Given the description of an element on the screen output the (x, y) to click on. 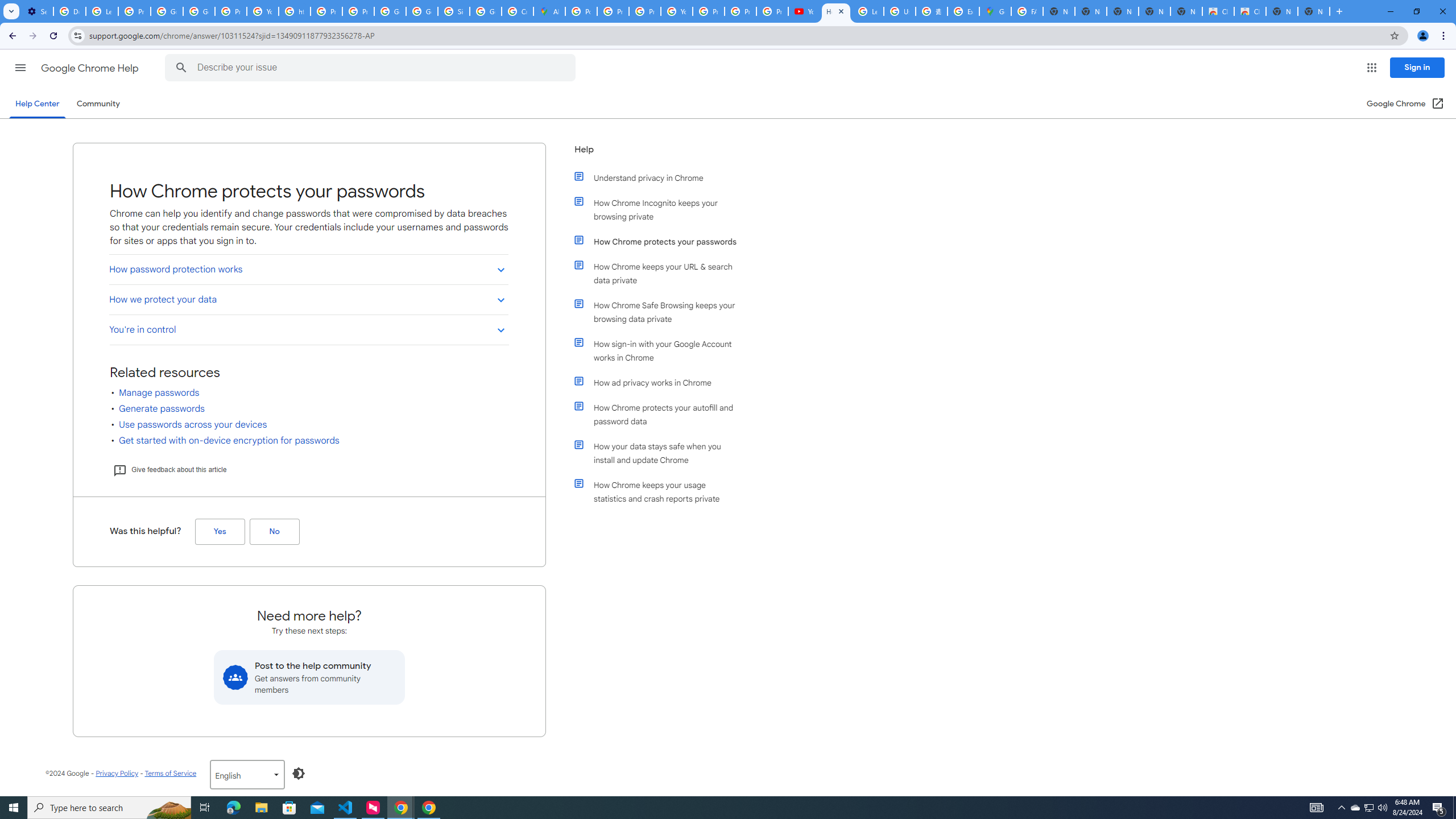
Classic Blue - Chrome Web Store (1217, 11)
Delete photos & videos - Computer - Google Photos Help (69, 11)
How we protect your data (308, 299)
How your data stays safe when you install and update Chrome (661, 453)
Give feedback about this article (169, 469)
Use passwords across your devices (193, 424)
How Chrome Safe Browsing keeps your browsing data private (661, 312)
Privacy Help Center - Policies Help (613, 11)
